Given the description of an element on the screen output the (x, y) to click on. 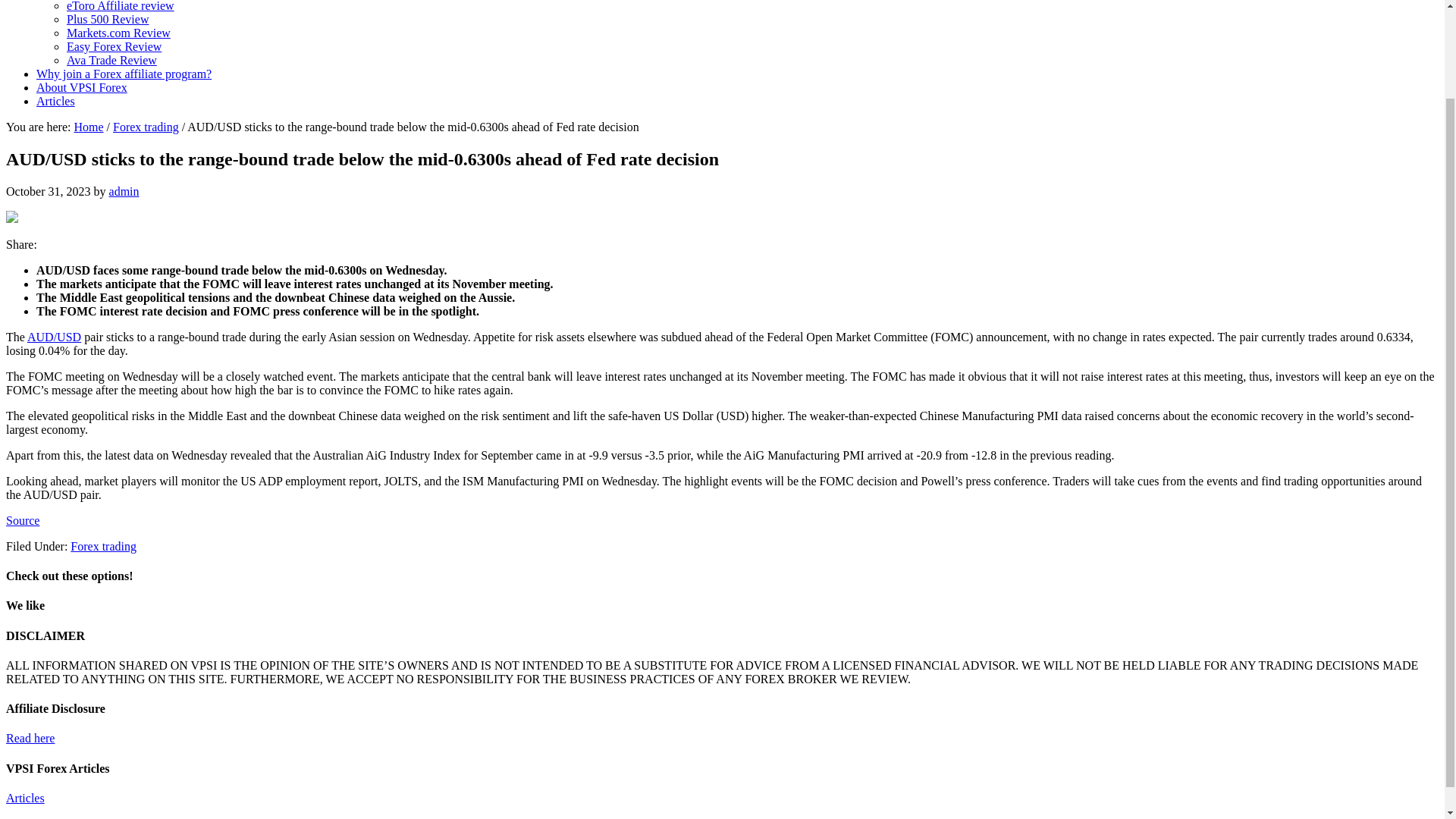
Why join a Forex affiliate program? (123, 73)
Forex trading (102, 545)
Source (22, 520)
Easy Forex Review (113, 46)
Ava Trade Review (111, 60)
Articles (55, 101)
Articles (25, 797)
Forex trading (146, 126)
Markets.com Review (118, 32)
admin (124, 191)
